Given the description of an element on the screen output the (x, y) to click on. 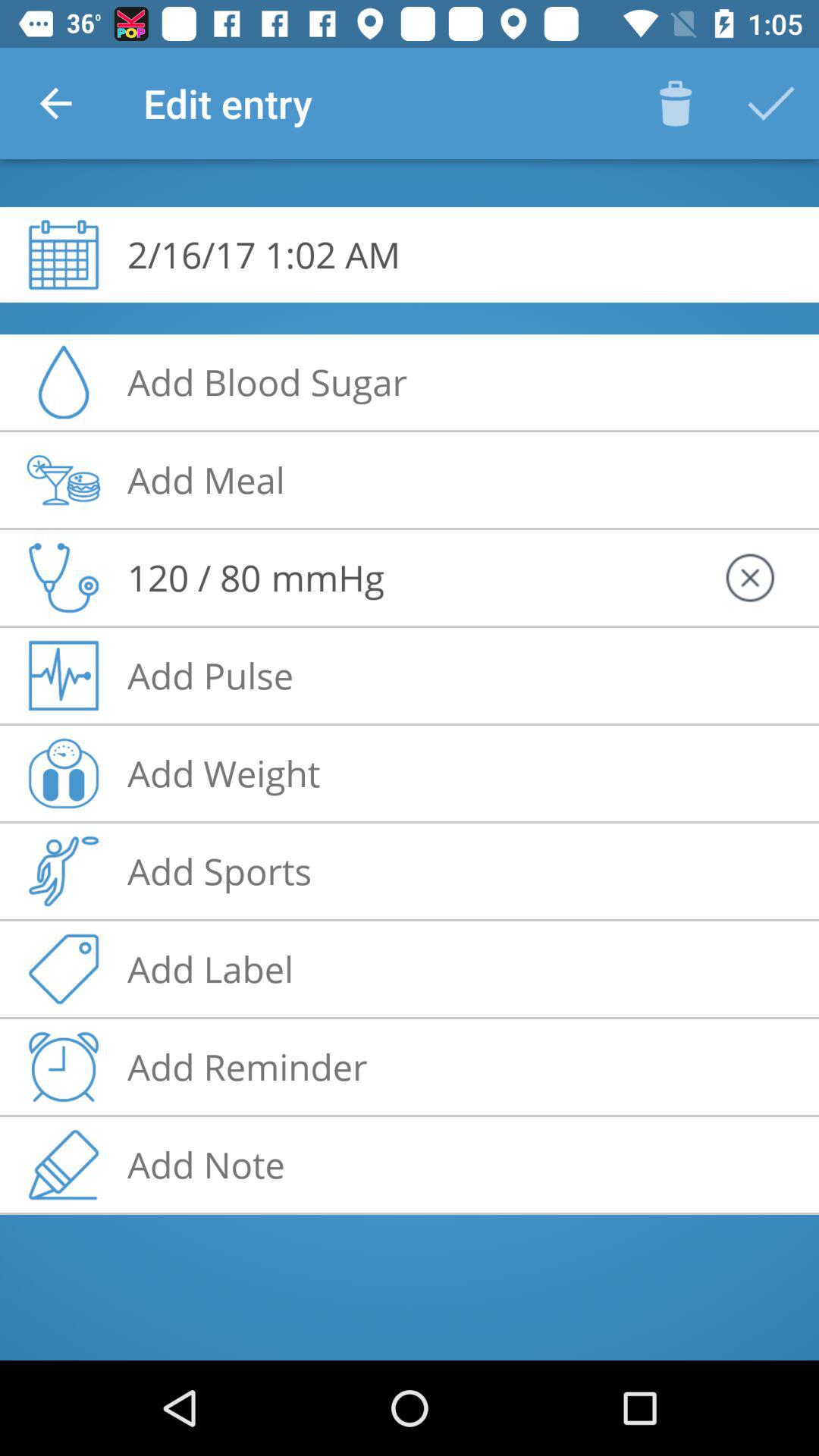
choose icon next to mmhg item (749, 577)
